Given the description of an element on the screen output the (x, y) to click on. 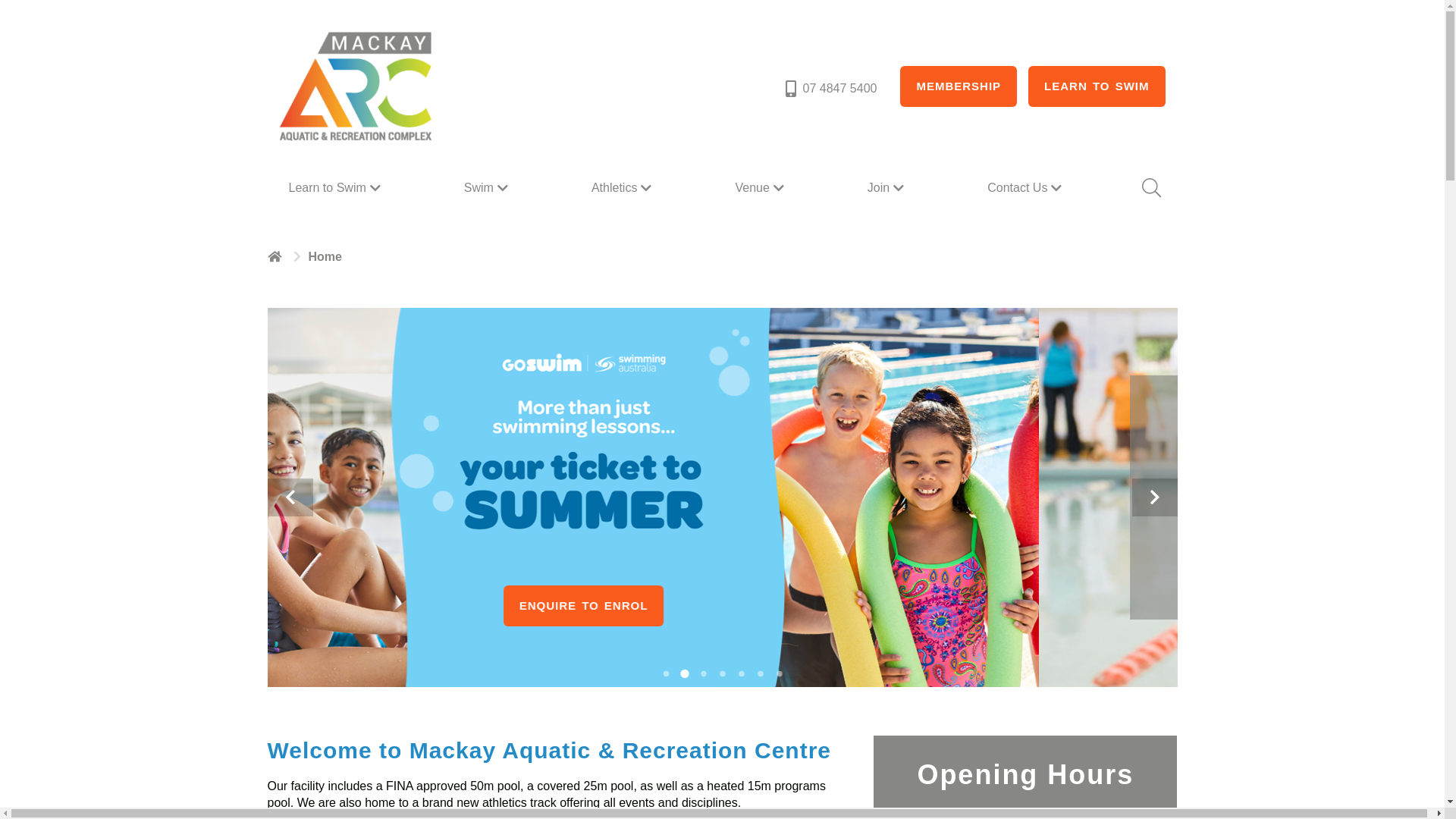
Learn to Swim Element type: text (335, 187)
  Element type: text (275, 256)
LEARN TO SWIM Element type: text (1096, 85)
ENQUIRE TO ENROL Element type: text (722, 605)
Next Element type: text (1153, 497)
Search Element type: text (1150, 188)
Swim Element type: text (487, 187)
Venue Element type: text (760, 187)
MEMBERSHIP Element type: text (958, 85)
Prev Element type: text (289, 497)
Contact Us Element type: text (1026, 187)
Join Element type: text (887, 187)
07 4847 5400 Element type: text (829, 88)
Athletics Element type: text (623, 187)
